Given the description of an element on the screen output the (x, y) to click on. 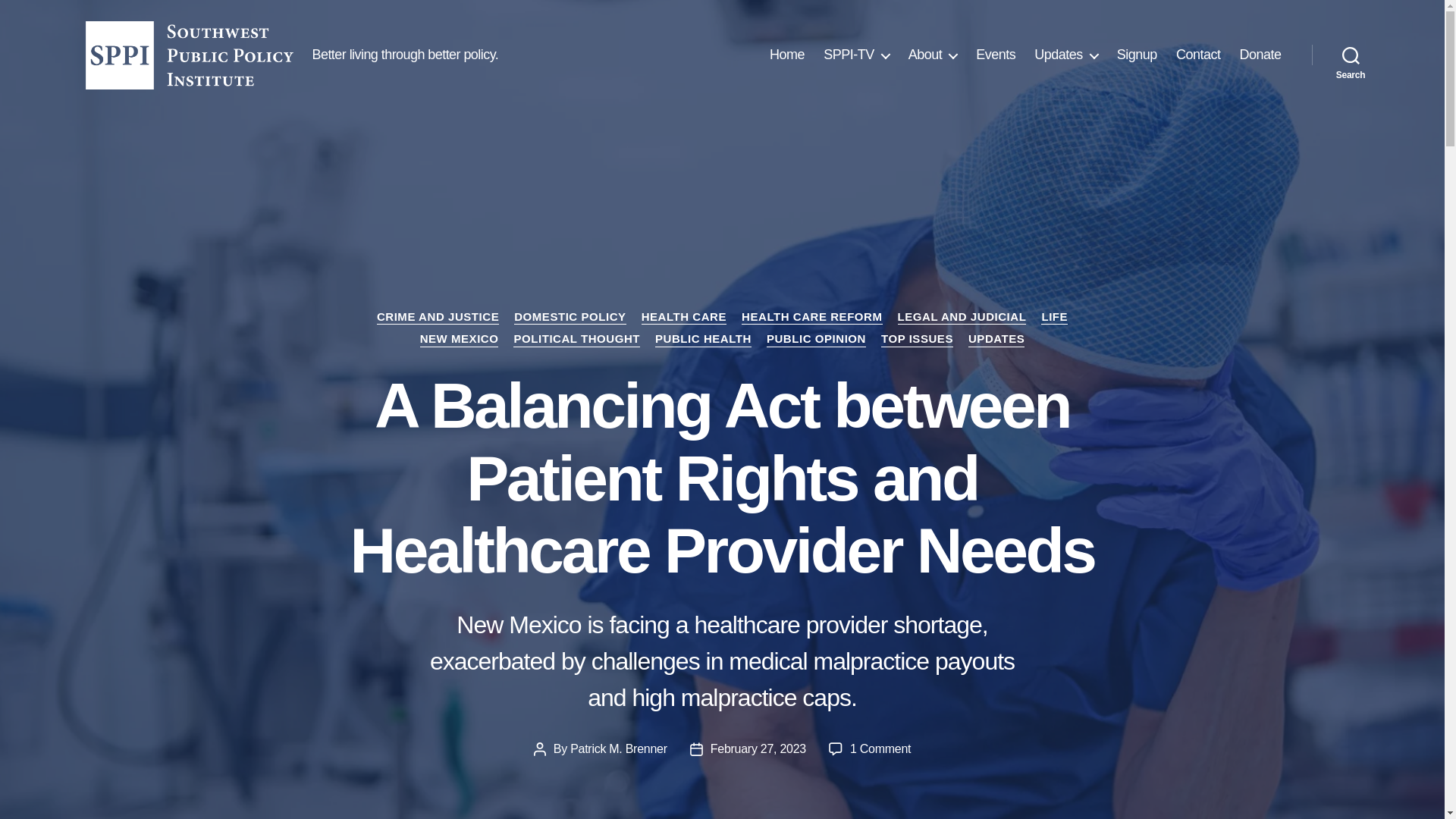
Updates (1065, 54)
Home (787, 54)
DOMESTIC POLICY (569, 317)
PUBLIC HEALTH (703, 339)
POLITICAL THOUGHT (576, 339)
Events (994, 54)
Signup (1136, 54)
NEW MEXICO (459, 339)
SPPI-TV (856, 54)
Contact (1198, 54)
PUBLIC OPINION (816, 339)
TOP ISSUES (916, 339)
Donate (1260, 54)
UPDATES (996, 339)
